Given the description of an element on the screen output the (x, y) to click on. 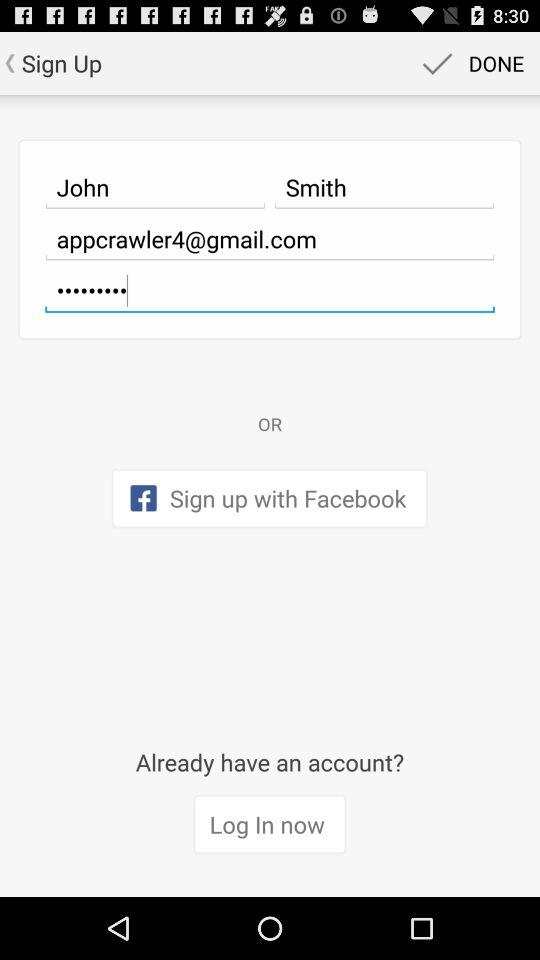
select item next to the smith icon (155, 187)
